Given the description of an element on the screen output the (x, y) to click on. 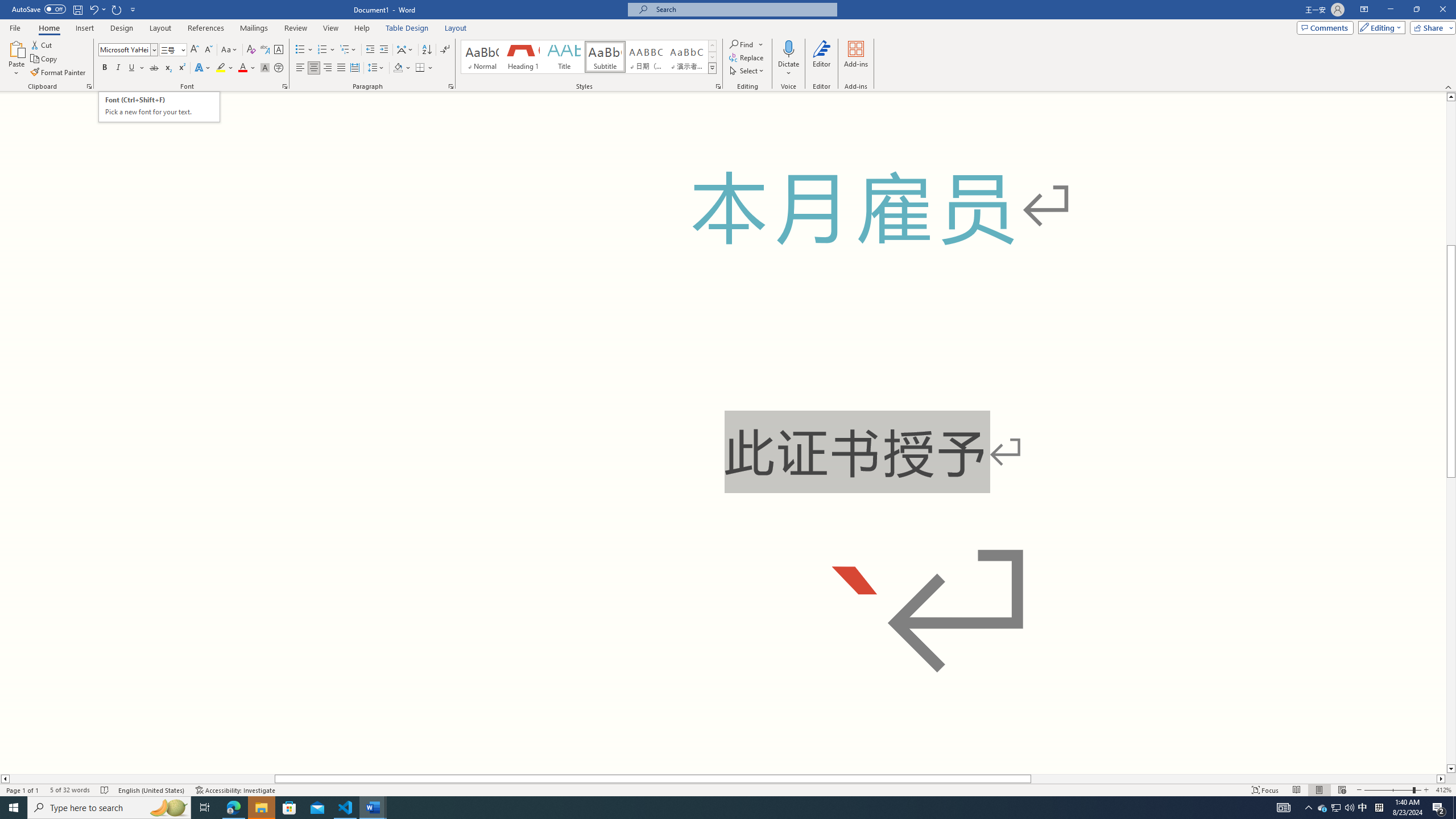
Title (564, 56)
Language English (United States) (152, 790)
Undo Grow Font (92, 9)
Undo Grow Font (96, 9)
